Given the description of an element on the screen output the (x, y) to click on. 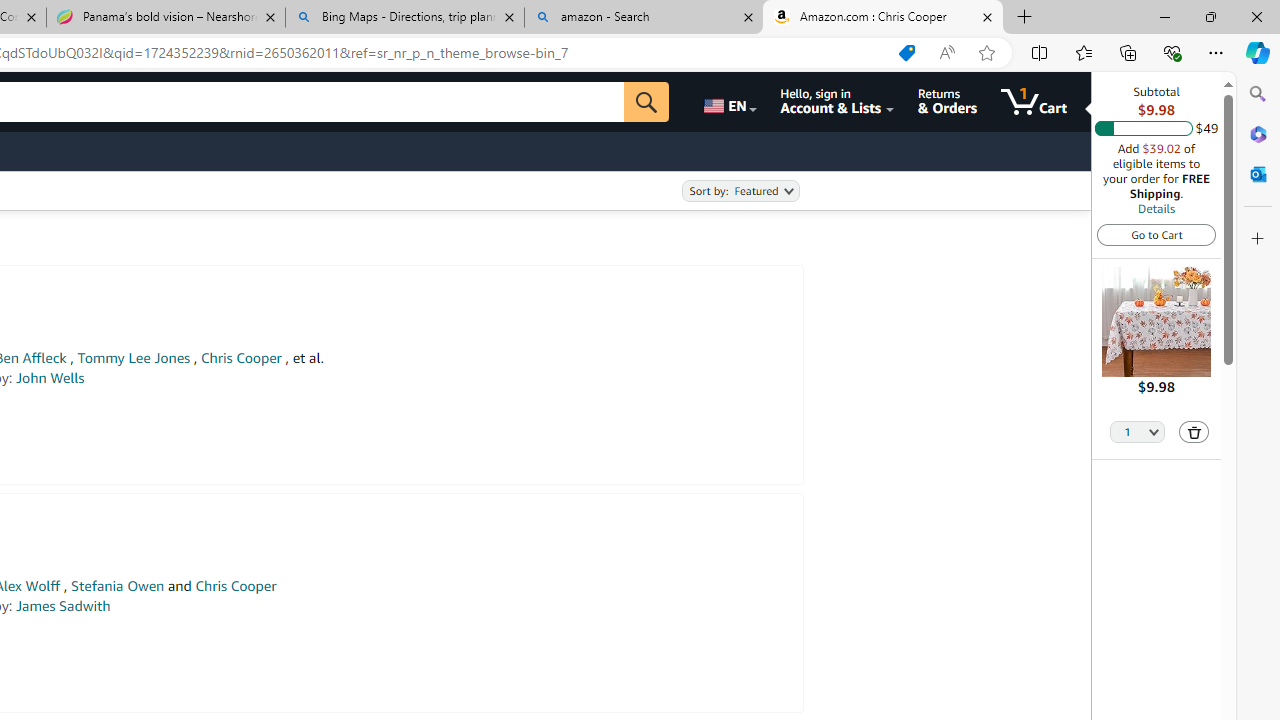
Go (646, 101)
Sort by: (740, 191)
amazon - Search (643, 17)
John Wells (49, 378)
Go to Cart (1156, 234)
Stefania Owen (117, 586)
Hello, sign in Account & Lists (836, 101)
